Given the description of an element on the screen output the (x, y) to click on. 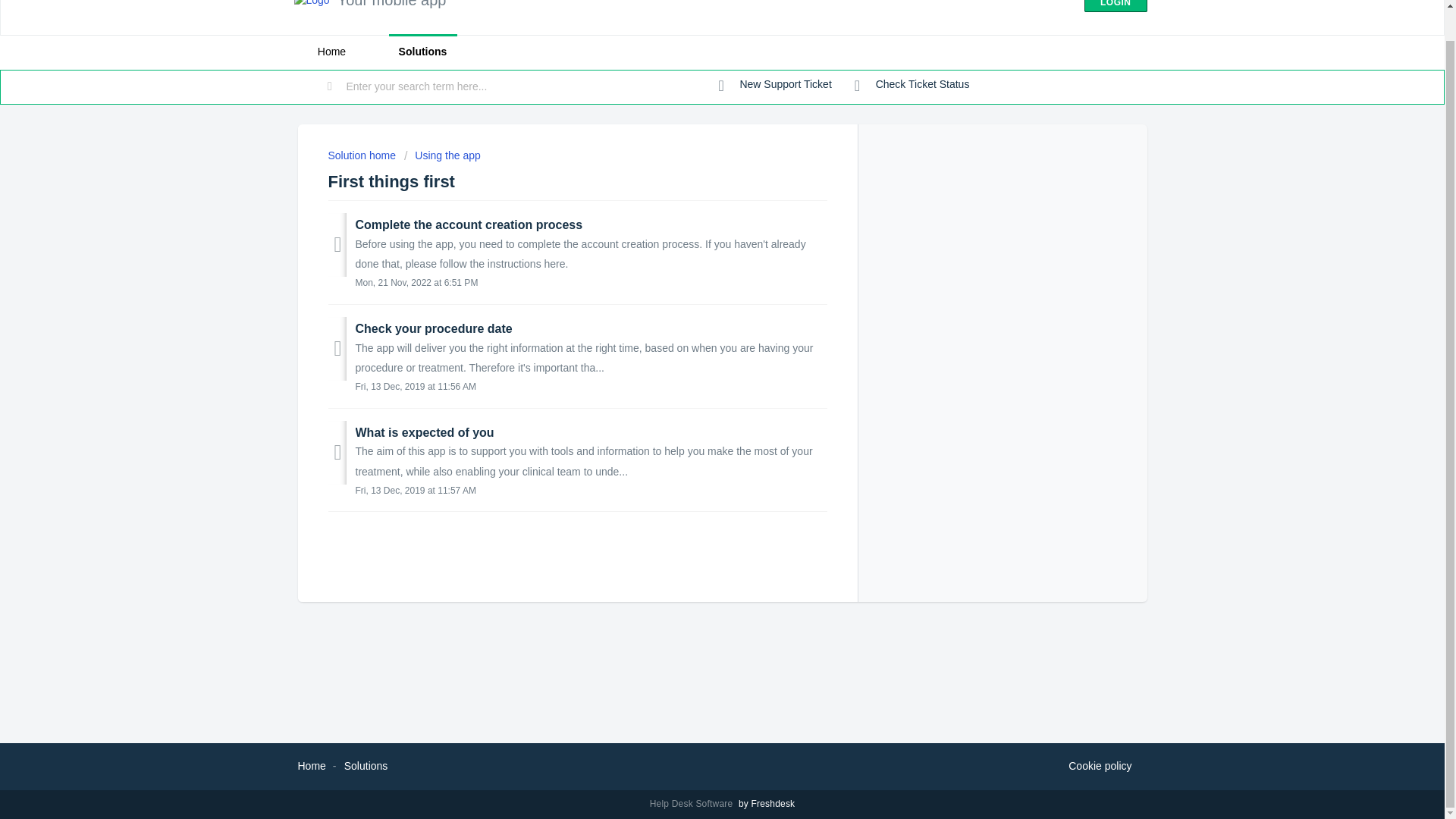
New support ticket (775, 84)
Solutions (422, 51)
Check your procedure date (433, 328)
New Support Ticket (775, 84)
Home (331, 51)
Solution home (362, 155)
Complete the account creation process (468, 224)
Why we love Cookies (1099, 766)
Cookie policy (1099, 766)
Check Ticket Status (911, 84)
